Given the description of an element on the screen output the (x, y) to click on. 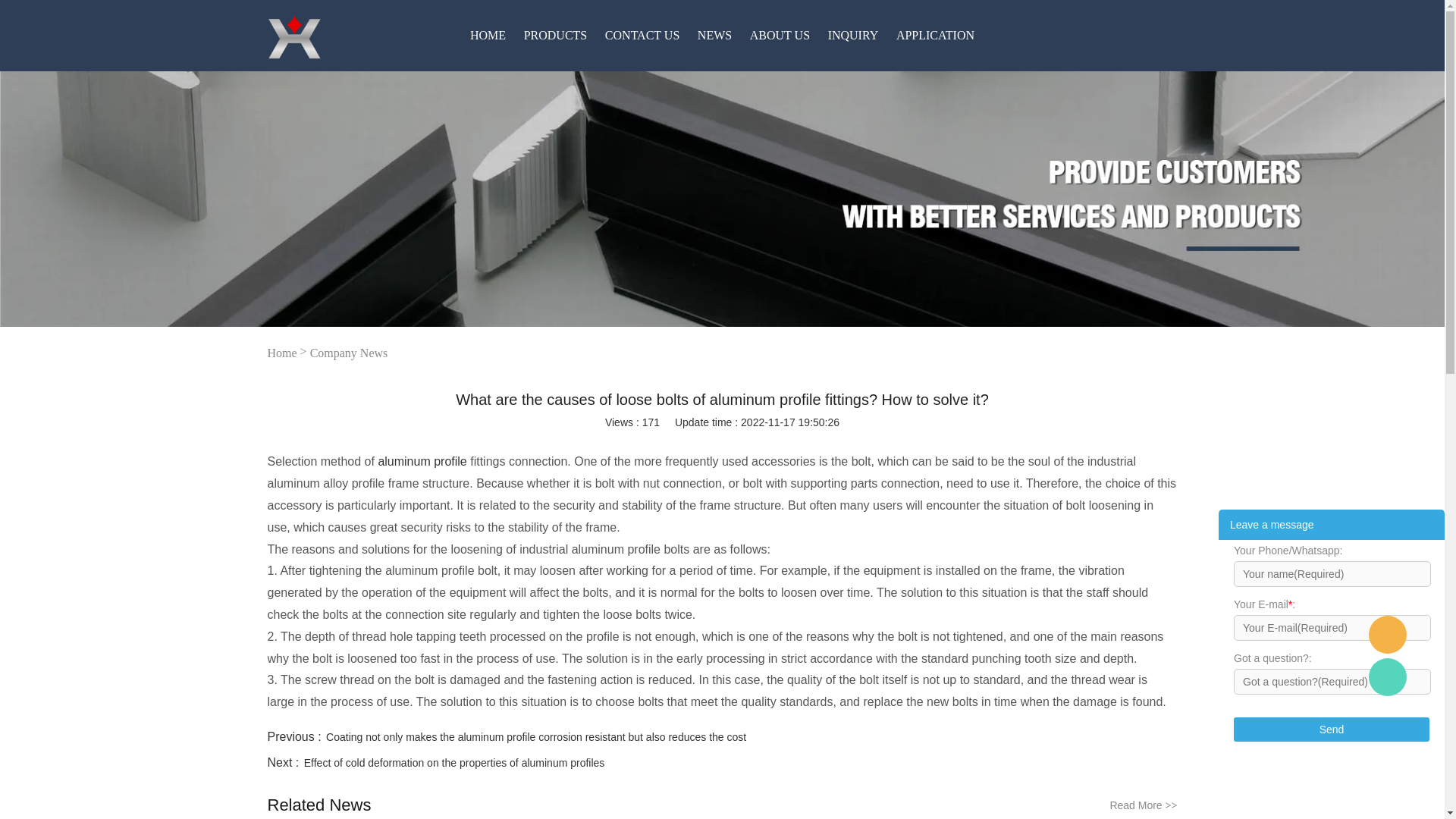
Send (1331, 729)
